Given the description of an element on the screen output the (x, y) to click on. 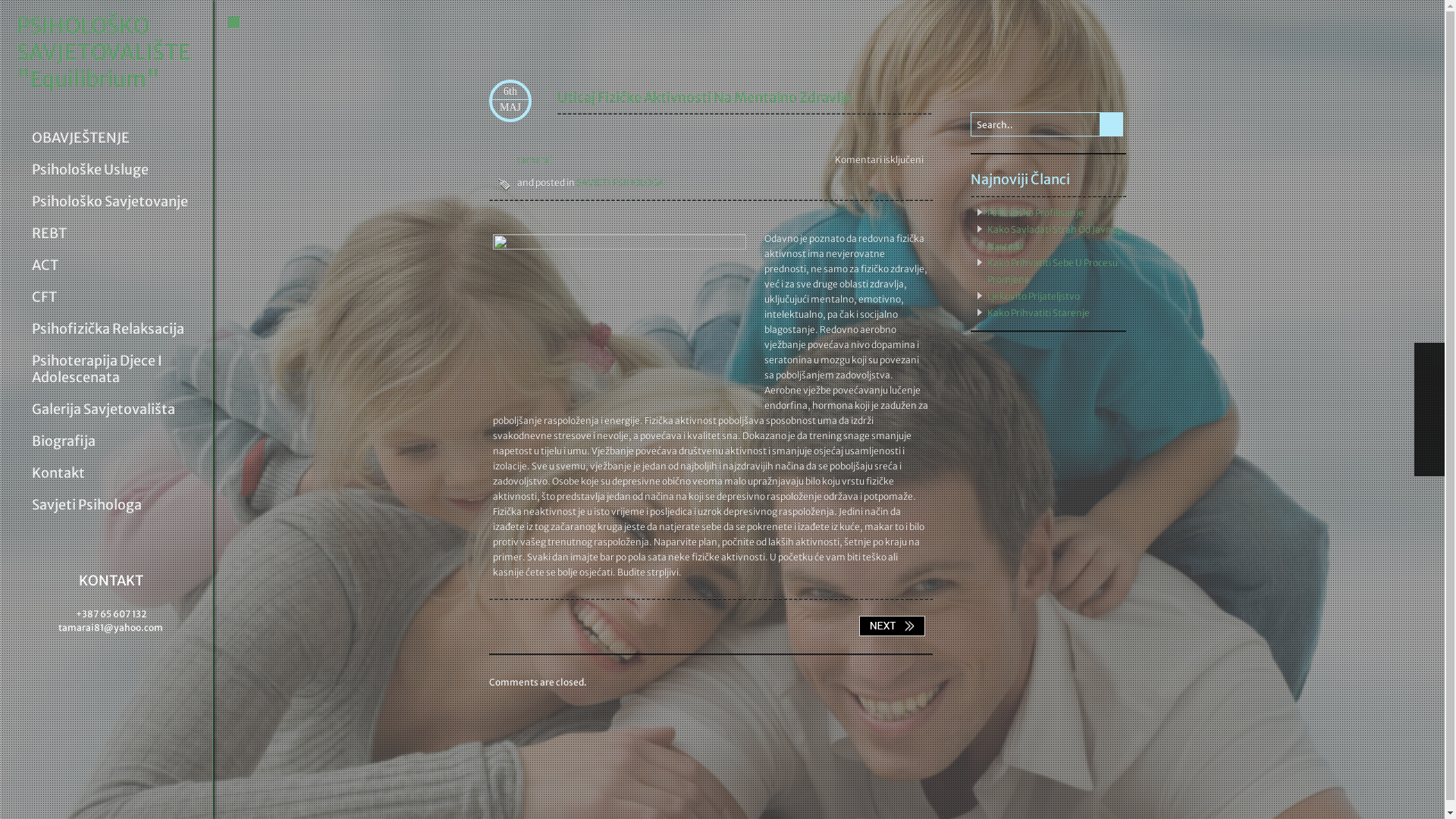
Kako Prihvatiti Starenje Element type: text (1038, 312)
show/hide thumbnails Element type: hover (1429, 459)
REBT Element type: text (114, 233)
Kontakt Element type: text (114, 472)
Biografija Element type: text (114, 441)
Kako Prihvatiti Sebe U Procesu Promjene Element type: text (1052, 271)
tamarai Element type: text (525, 159)
Savjeti Psihologa Element type: text (114, 504)
Kako Savladati Strah Od Javnog Nastupa Element type: text (1054, 237)
Ljekovito Prijateljstvo Element type: text (1033, 295)
hide/show content Element type: hover (1123, 82)
play/pause Gallery Element type: hover (1429, 425)
Povjerenje u partnerskim odnosima Element type: text (891, 626)
Psihoterapija Djece I Adolescenata Element type: text (114, 368)
SAVJETI PSIHOLOGA Element type: text (619, 182)
ACT Element type: text (114, 265)
close/open Element type: hover (230, 22)
CFT Element type: text (114, 296)
